Given the description of an element on the screen output the (x, y) to click on. 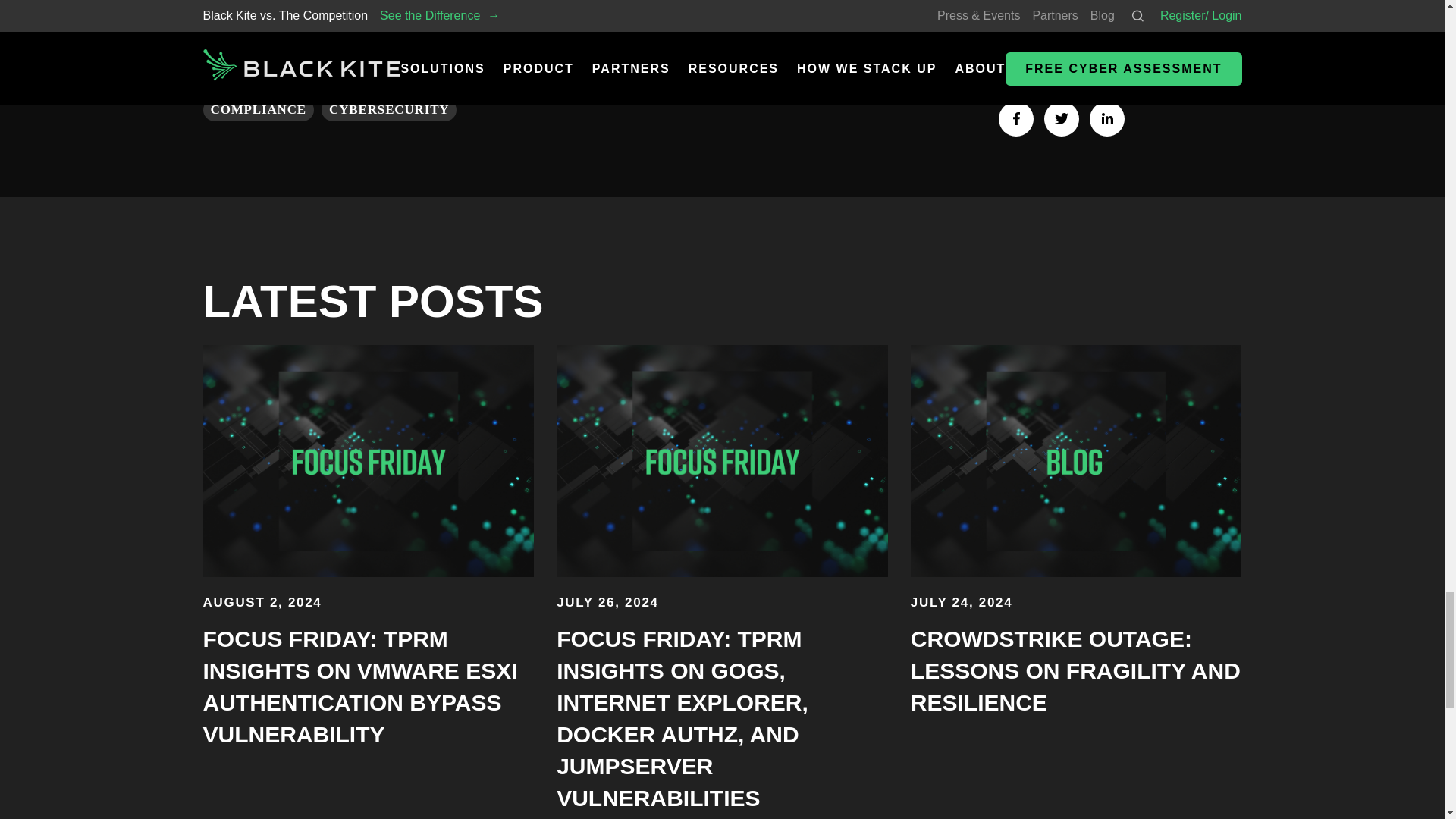
CrowdStrike Outage: Lessons on Fragility and Resilience (1075, 670)
